Given the description of an element on the screen output the (x, y) to click on. 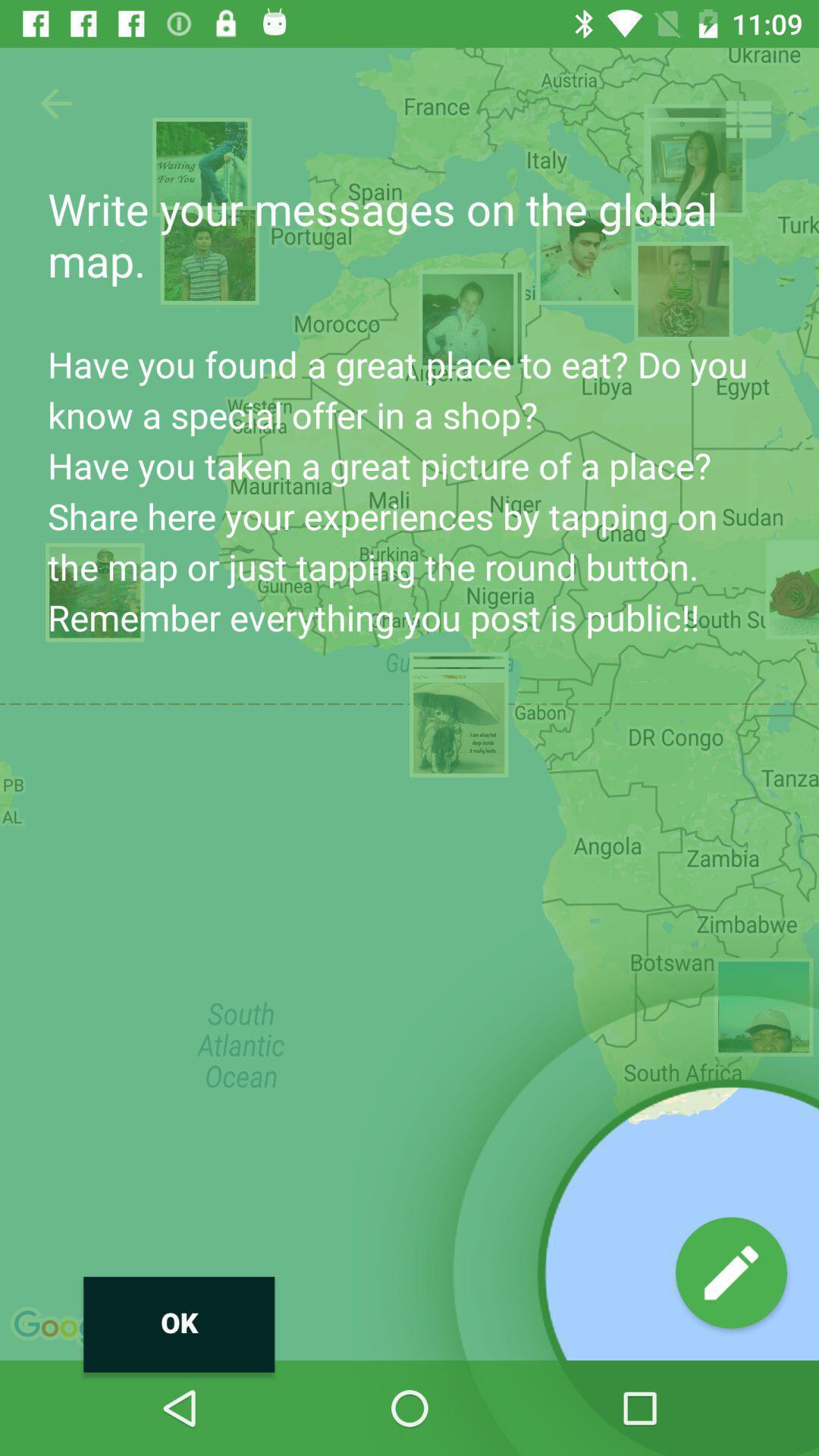
the arrow pointing writing something (731, 1272)
